Given the description of an element on the screen output the (x, y) to click on. 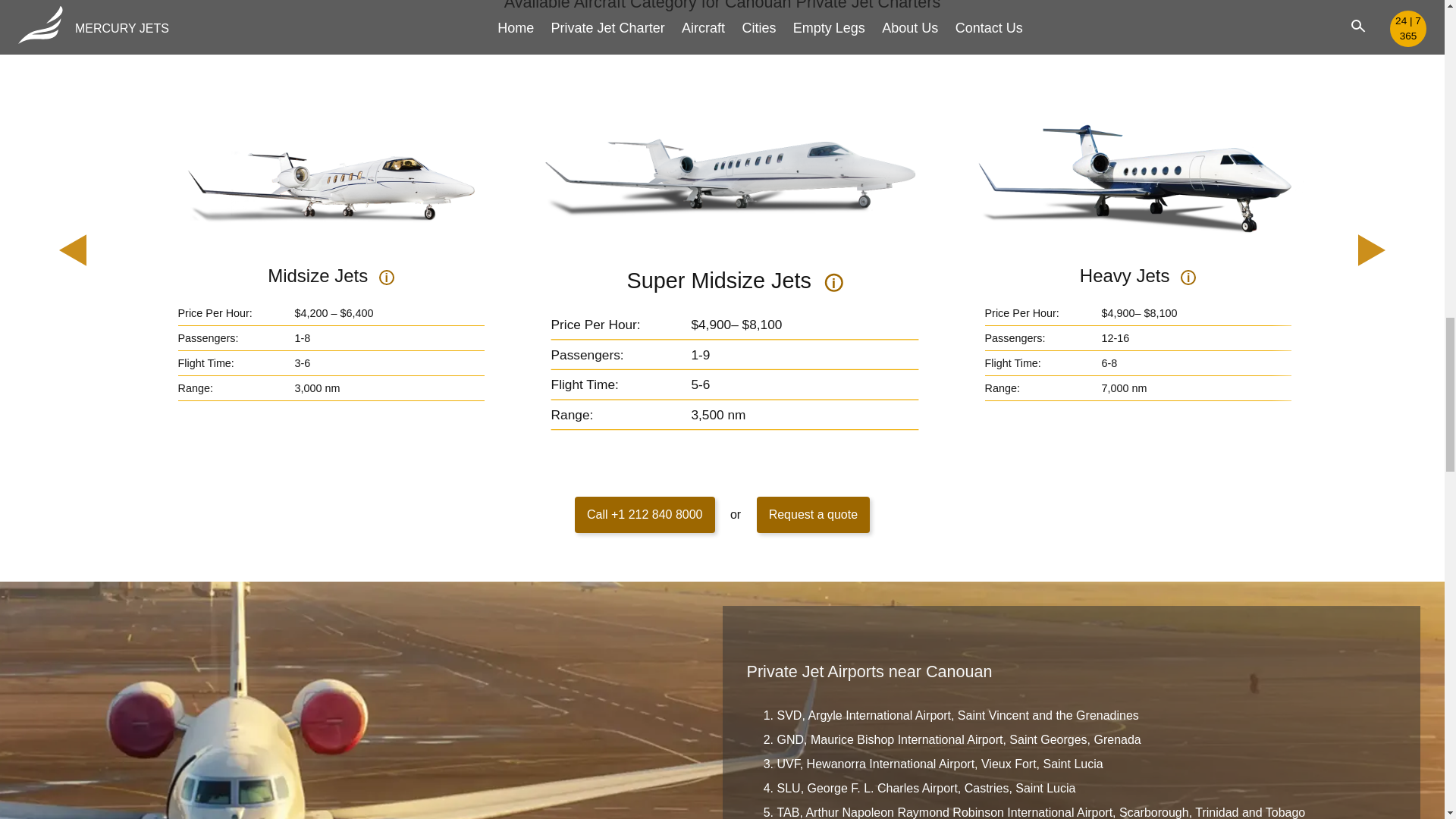
Request a quote (813, 514)
